Given the description of an element on the screen output the (x, y) to click on. 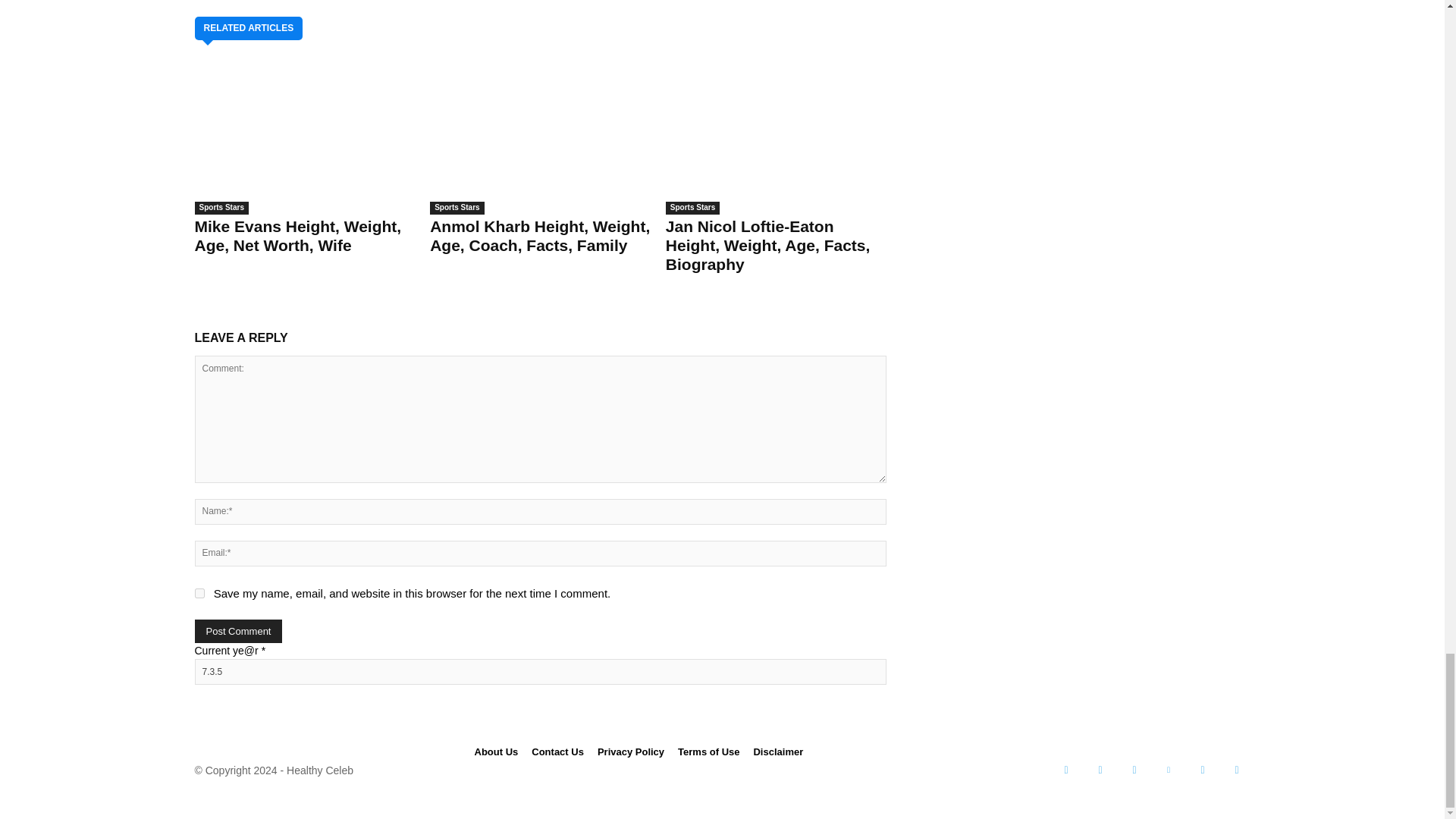
7.3.5 (539, 671)
Post Comment (237, 630)
yes (198, 593)
